Given the description of an element on the screen output the (x, y) to click on. 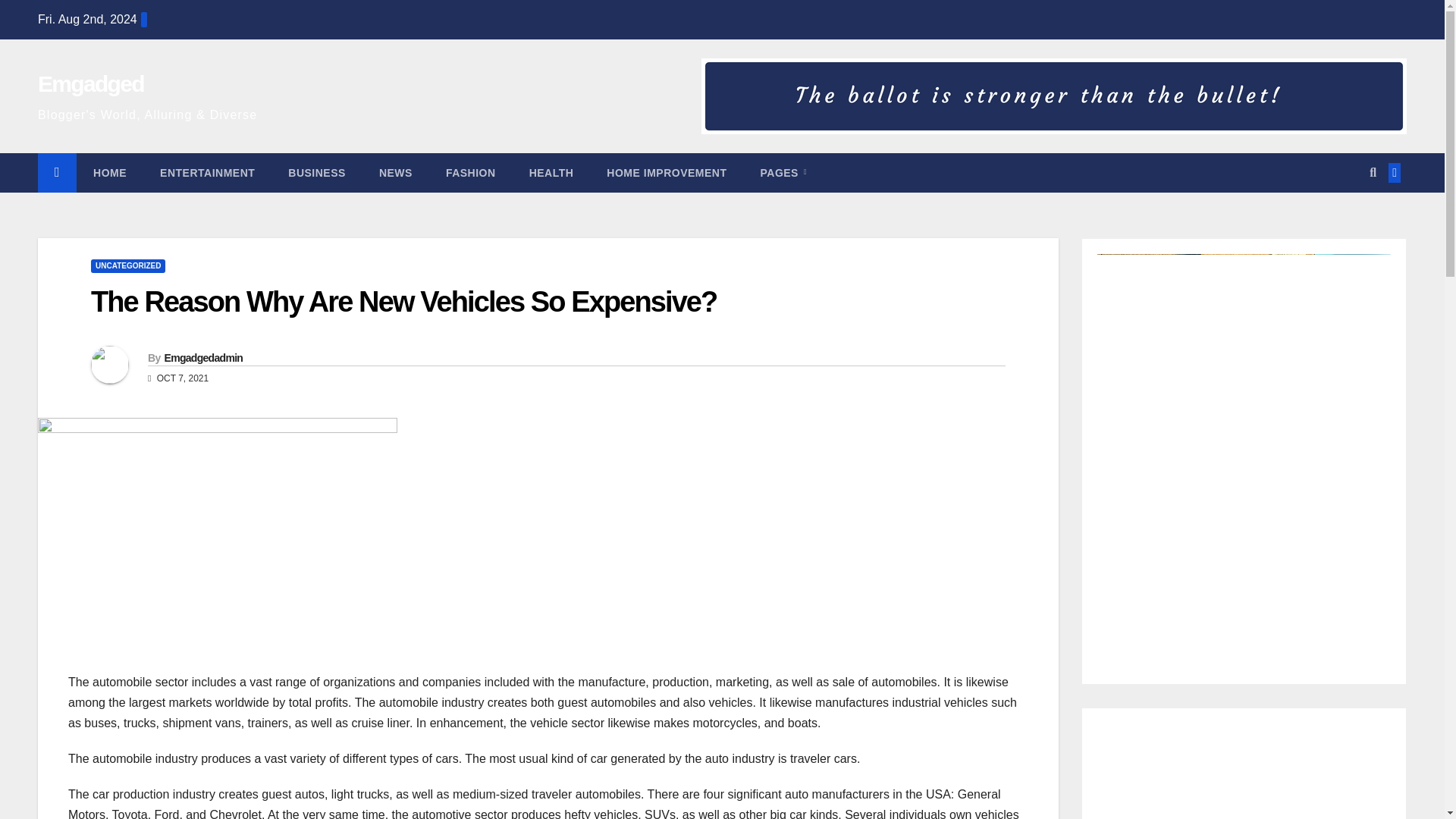
ENTERTAINMENT (206, 172)
Health (551, 172)
Emgadgedadmin (203, 357)
The Reason Why Are New Vehicles So Expensive? (403, 301)
News (395, 172)
UNCATEGORIZED (127, 265)
PAGES (783, 172)
Home (109, 172)
Permalink to: The Reason Why Are New Vehicles So Expensive? (403, 301)
Home Improvement (665, 172)
HOME (109, 172)
HOME IMPROVEMENT (665, 172)
Fashion (470, 172)
FASHION (470, 172)
Emgadged (90, 83)
